Given the description of an element on the screen output the (x, y) to click on. 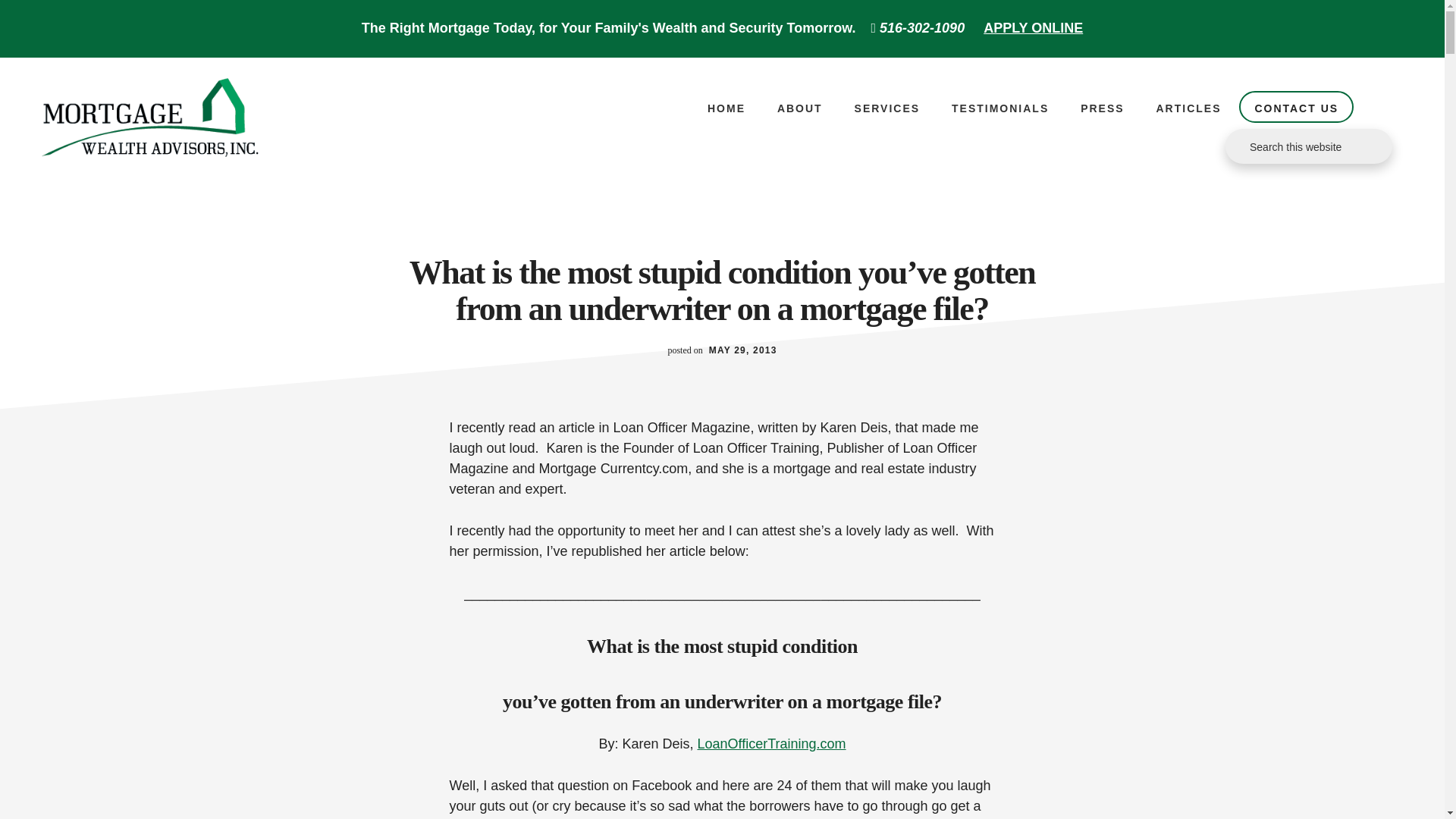
ABOUT (798, 107)
ARTICLES (1187, 107)
MORTGAGE WEALTH ADVISORS (150, 122)
APPLY ONLINE (1033, 28)
PRESS (1102, 107)
CONTACT US (1296, 106)
SERVICES (887, 107)
LoanOfficerTraining.com (771, 743)
HOME (726, 107)
TESTIMONIALS (999, 107)
